Given the description of an element on the screen output the (x, y) to click on. 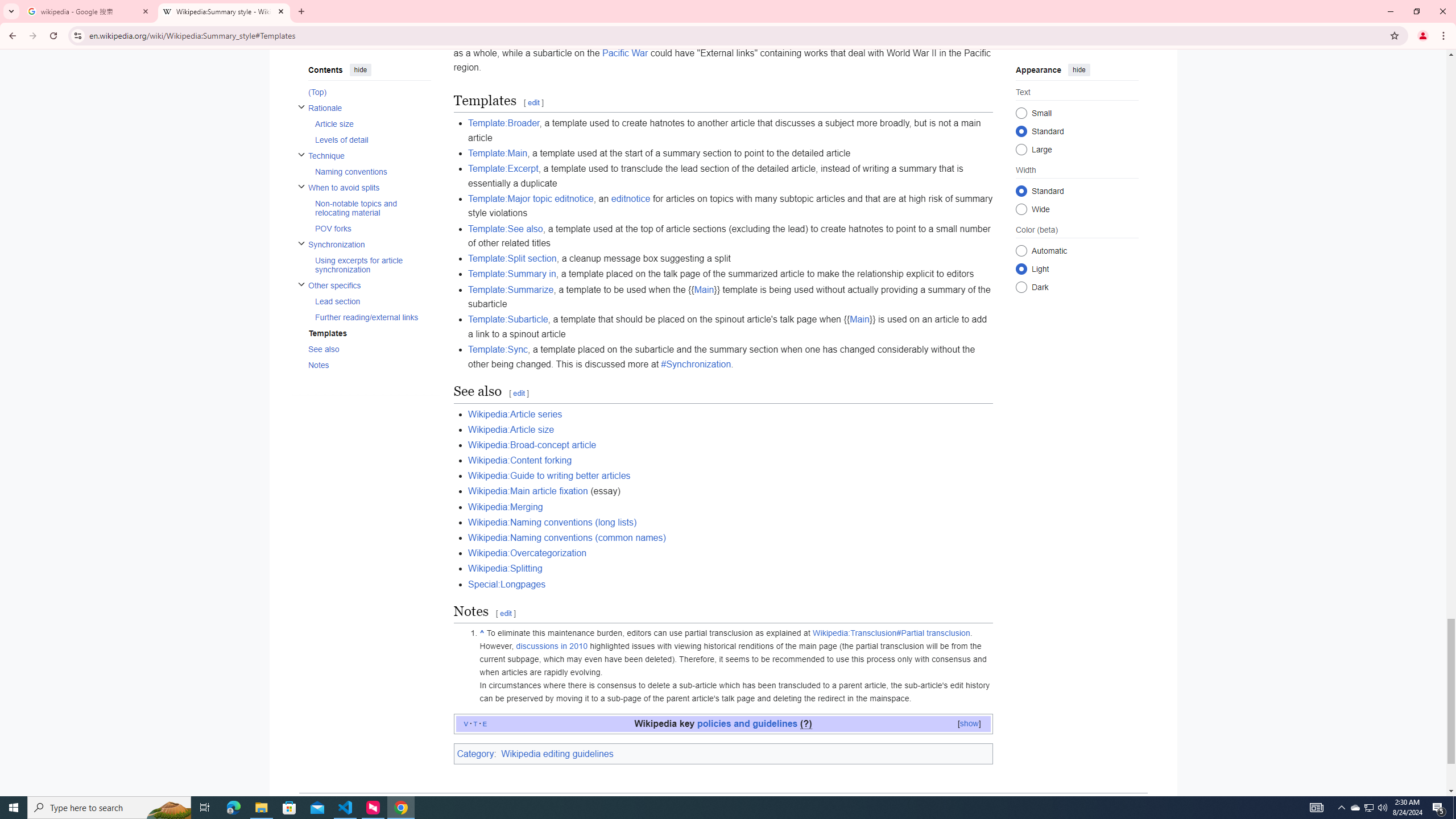
Toggle Technique subsection (300, 154)
See also (368, 348)
Wikipedia:Overcategorization (526, 552)
AutomationID: toc-Naming_conventions (368, 170)
Template:Split section (511, 258)
Wikipedia:Guide to writing better articles (548, 475)
Special:Longpages (506, 583)
AutomationID: toc-When_to_avoid_splits (365, 207)
Wikipedia:Main article fixation (527, 491)
AutomationID: toc-Technique (365, 163)
Template:See also (505, 228)
When to avoid splits (368, 187)
